Given the description of an element on the screen output the (x, y) to click on. 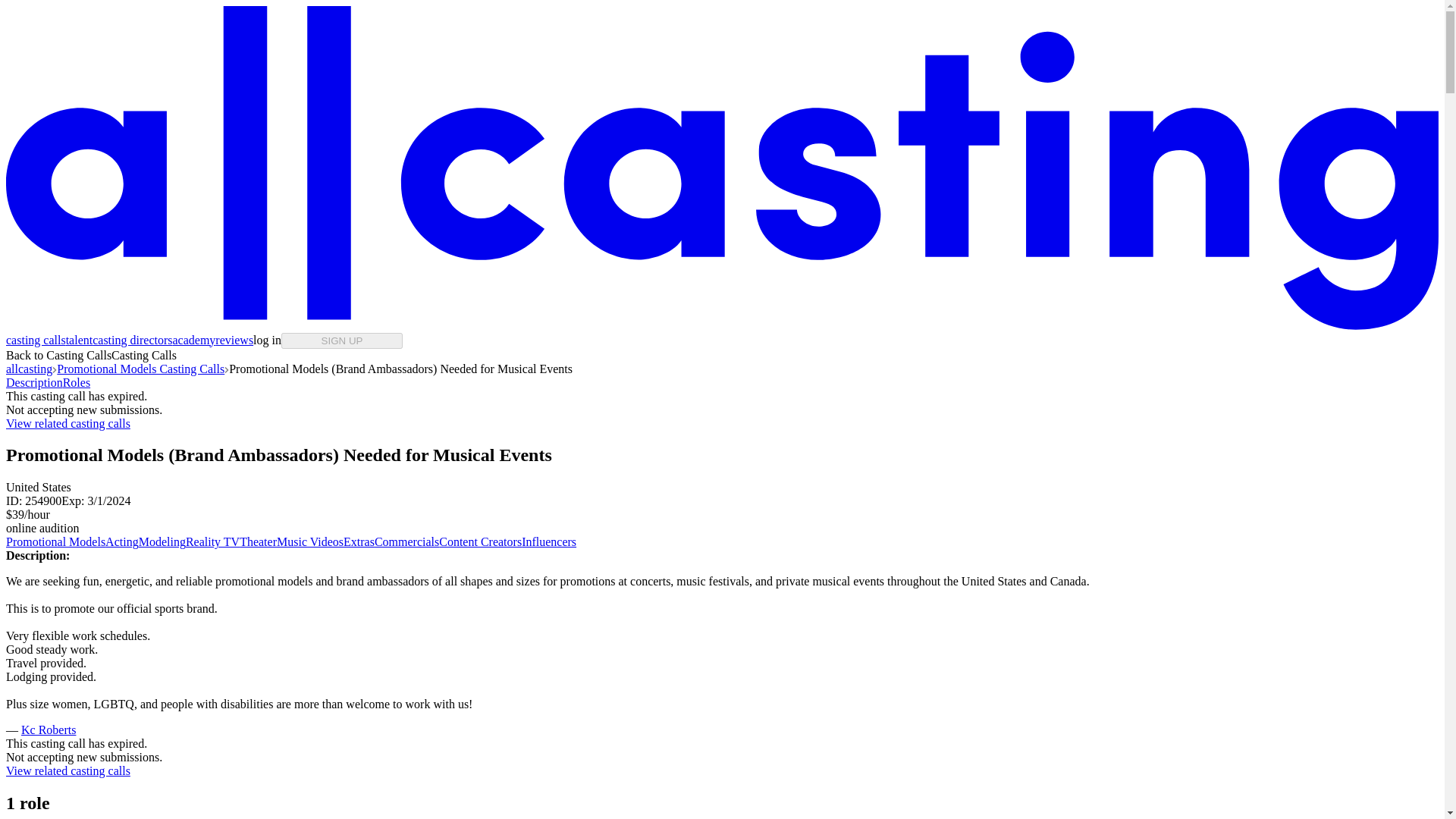
Back to Casting CallsCasting Calls (90, 354)
casting directors (132, 339)
Reality TV (213, 541)
SIGN UP (342, 340)
Modeling (162, 541)
Content Creators (480, 541)
Commercials (406, 541)
Extras (358, 541)
View related casting calls (68, 770)
Promotional Models Casting Calls (140, 368)
